Given the description of an element on the screen output the (x, y) to click on. 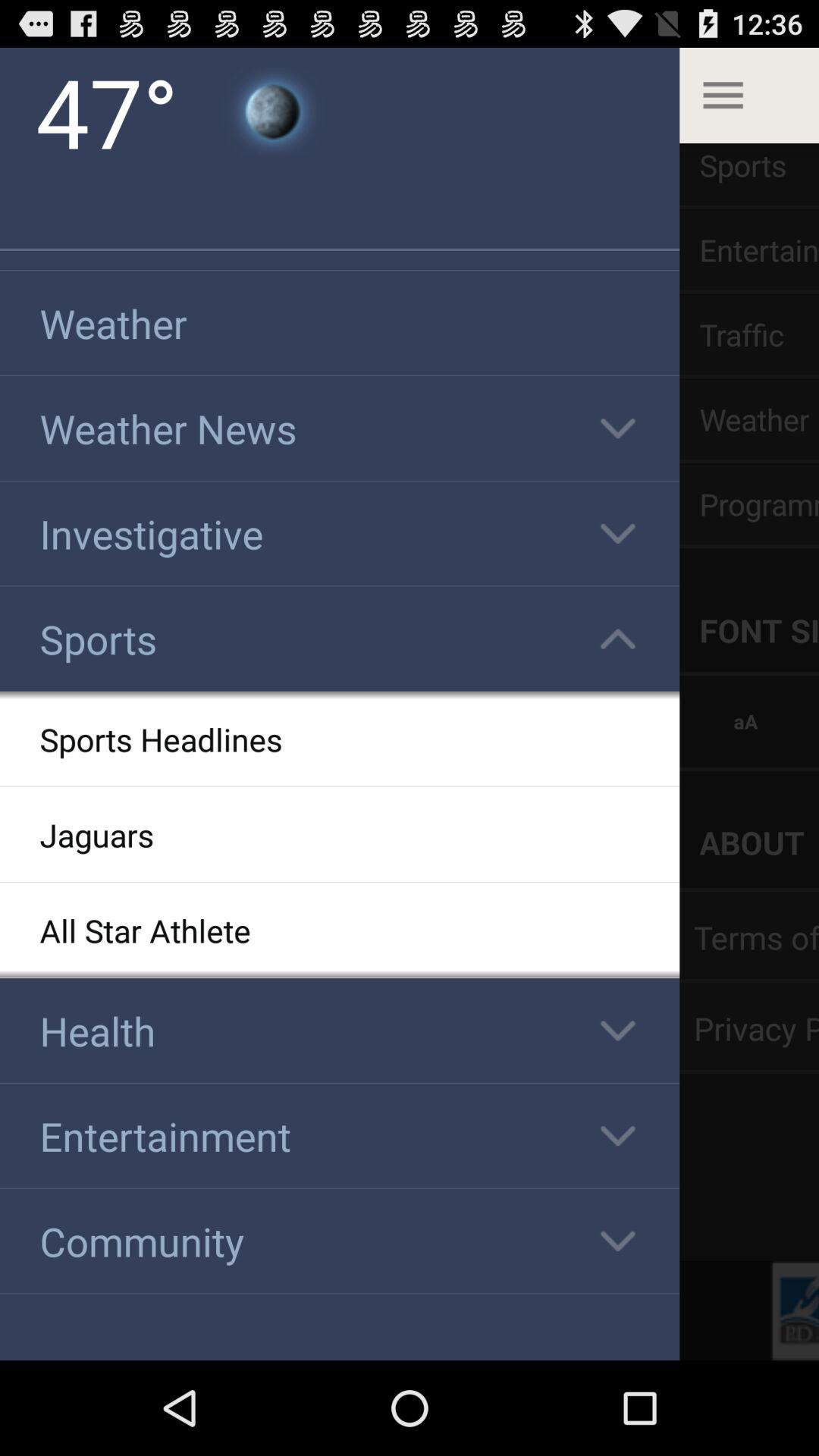
select option privacy which is on the right corner of the page (749, 1028)
click on the drop down which is on the right side of entertainment (617, 1135)
